Given the description of an element on the screen output the (x, y) to click on. 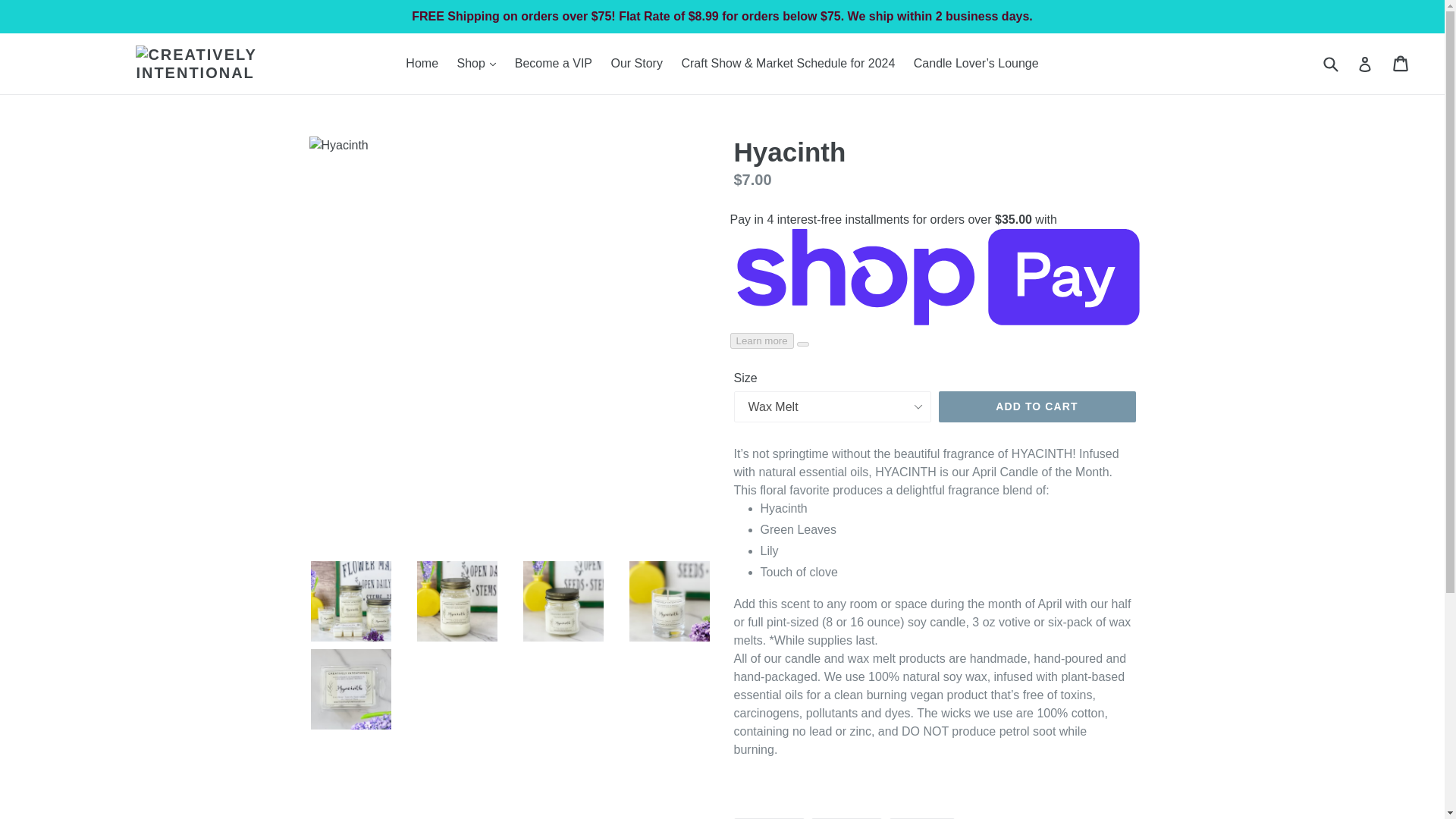
Become a VIP (552, 63)
Tweet on Twitter (846, 818)
Home (421, 63)
Share on Facebook (769, 818)
Pin on Pinterest (922, 818)
Our Story (635, 63)
